Given the description of an element on the screen output the (x, y) to click on. 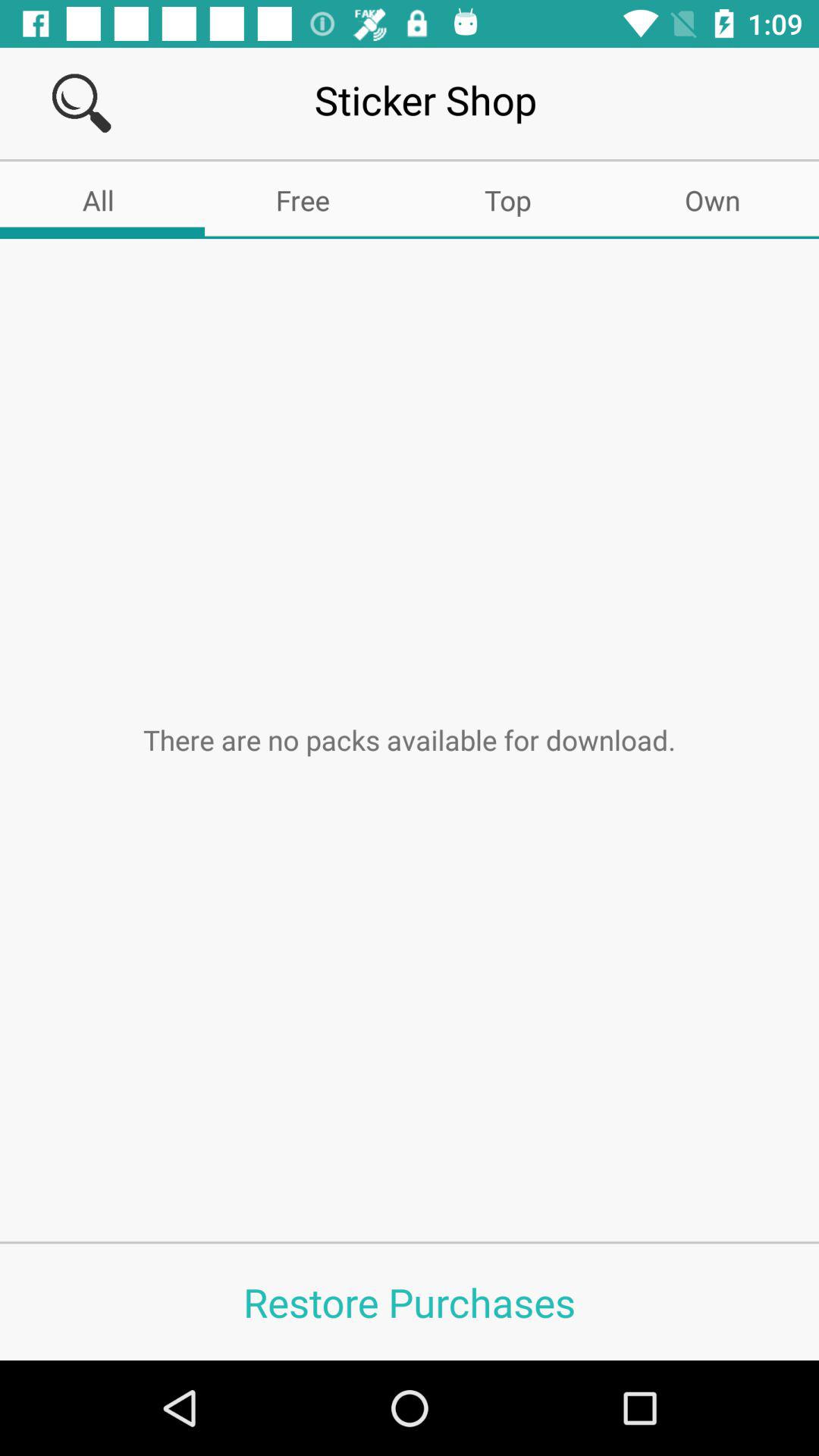
search the article (81, 103)
